Given the description of an element on the screen output the (x, y) to click on. 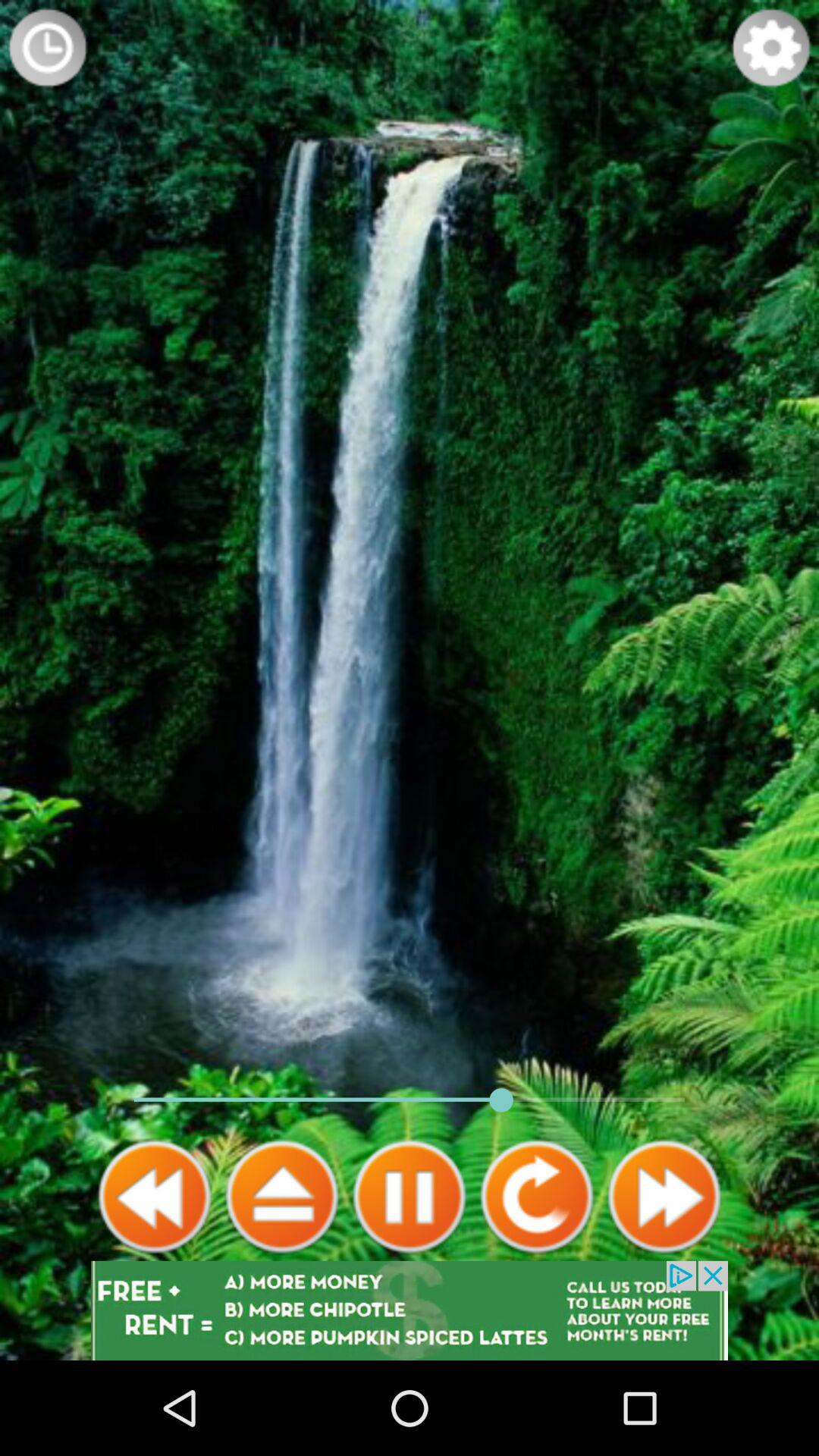
know about the advertisement (409, 1310)
